Given the description of an element on the screen output the (x, y) to click on. 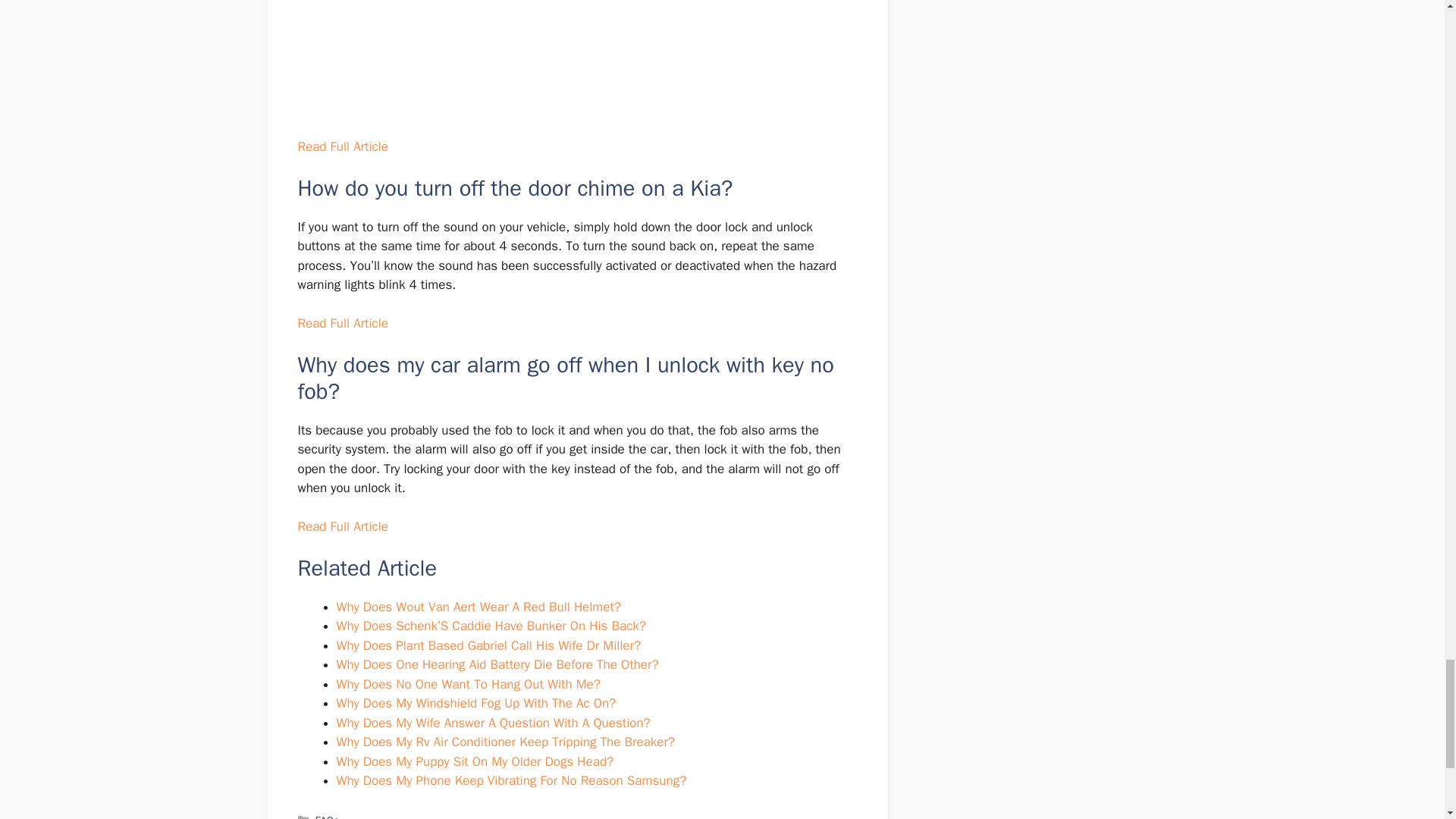
Read Full Article (342, 323)
Why Does No One Want To Hang Out With Me? (467, 684)
Why Does My Phone Keep Vibrating For No Reason Samsung? (511, 780)
Why Does Wout Van Aert Wear A Red Bull Helmet? (478, 606)
Read Full Article (342, 526)
Why Does My Rv Air Conditioner Keep Tripping The Breaker? (505, 741)
Why Does My Wife Answer A Question With A Question? (493, 722)
Why Does One Hearing Aid Battery Die Before The Other? (497, 664)
Read Full Article (342, 146)
Why Does My Puppy Sit On My Older Dogs Head? (475, 761)
